Given the description of an element on the screen output the (x, y) to click on. 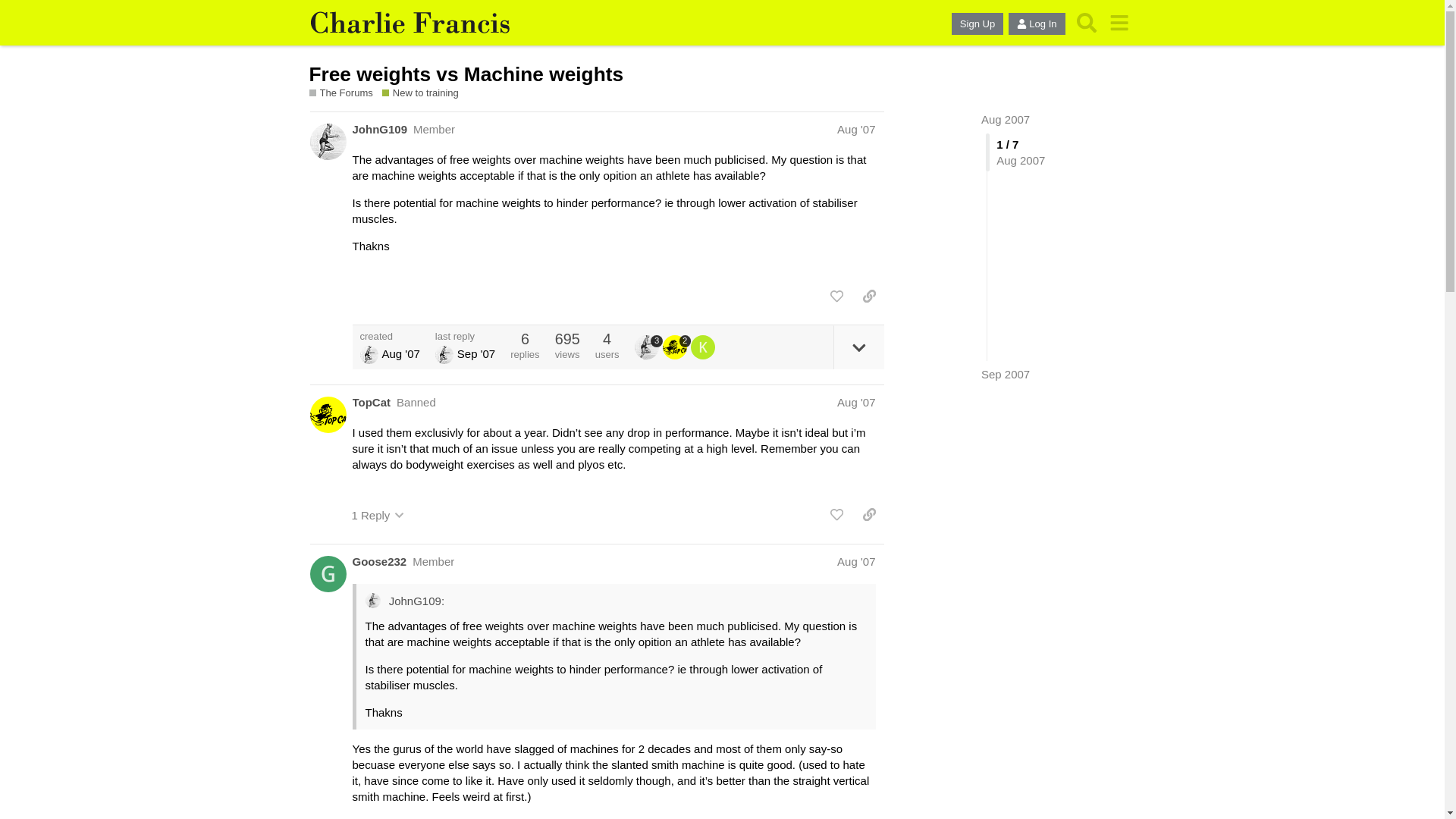
share a link to this post (869, 296)
JohnG109 (648, 346)
expand topic details (857, 347)
The Forums (340, 92)
JohnG109 (368, 354)
Sign Up (977, 24)
Aug '07 (856, 401)
JohnG109 (379, 129)
2 (676, 346)
Search (1086, 22)
Sep 2007 (1005, 374)
Discussion for those new to training. (425, 92)
Aug '07 (856, 561)
Goose232 (379, 561)
menu (1119, 22)
